Given the description of an element on the screen output the (x, y) to click on. 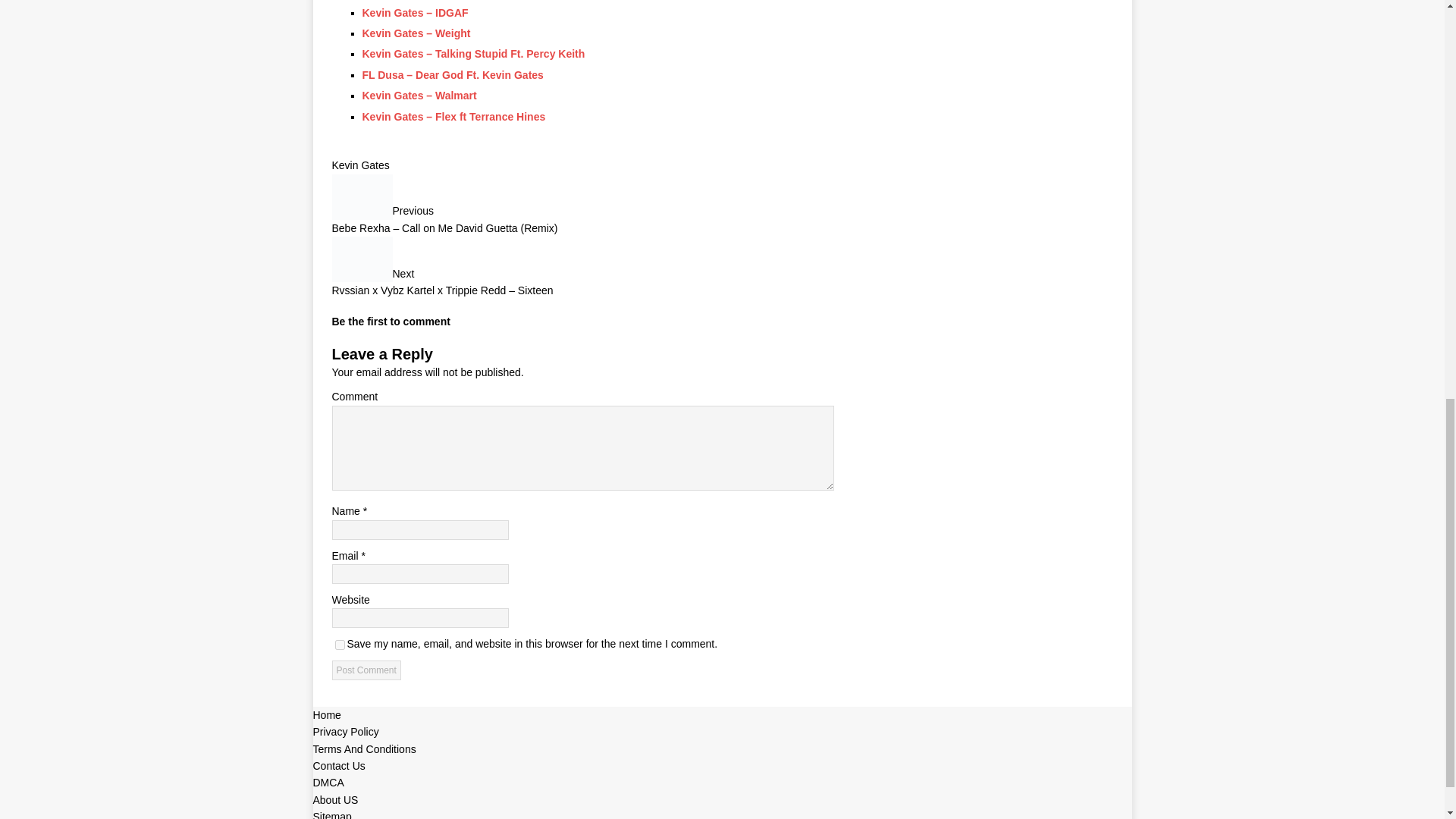
Post Comment (366, 670)
yes (339, 644)
Post Comment (366, 670)
Kevin Gates (360, 164)
